Given the description of an element on the screen output the (x, y) to click on. 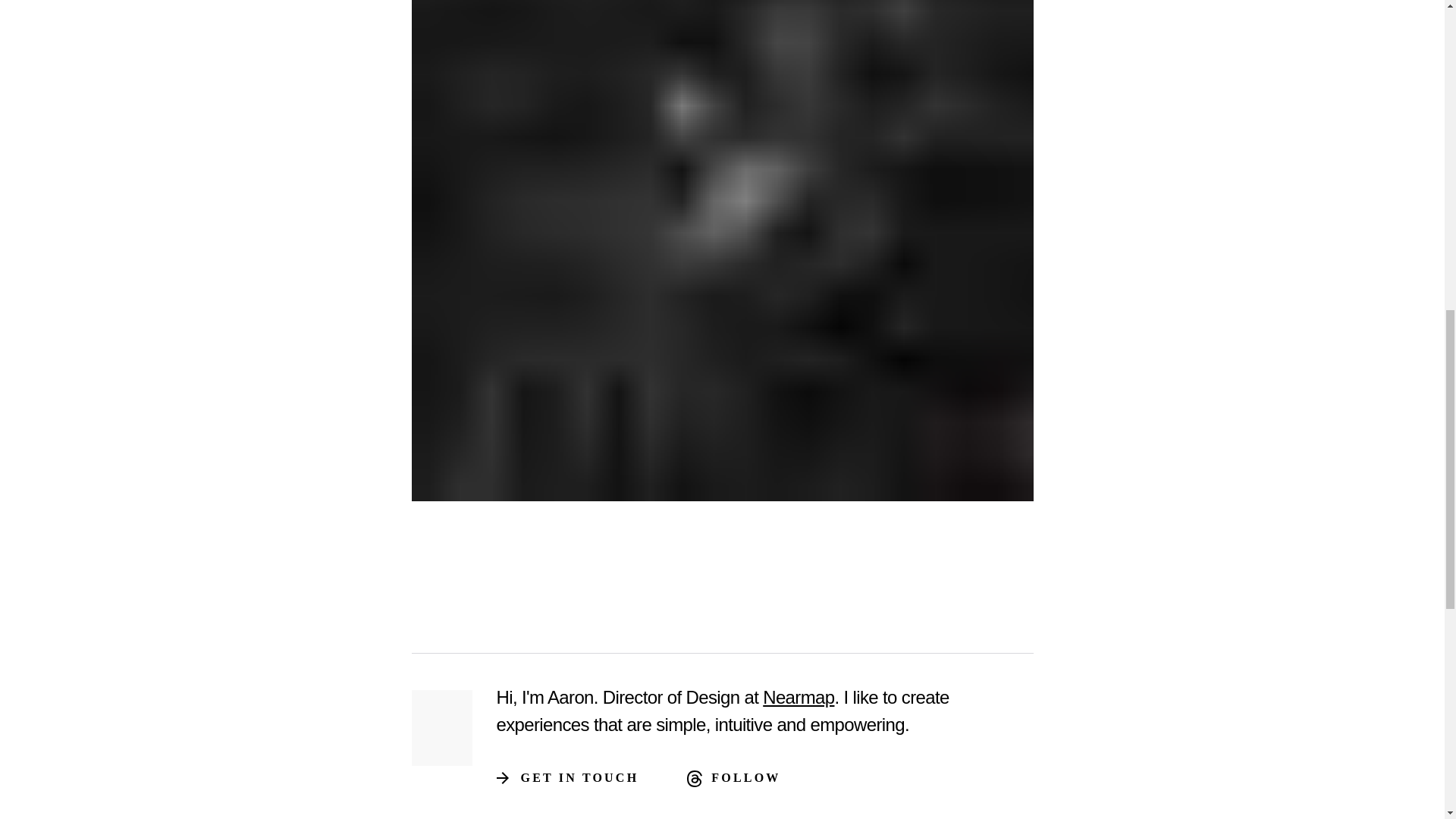
GET IN TOUCH (579, 777)
FOLLOW (746, 777)
Nearmap (798, 697)
